Given the description of an element on the screen output the (x, y) to click on. 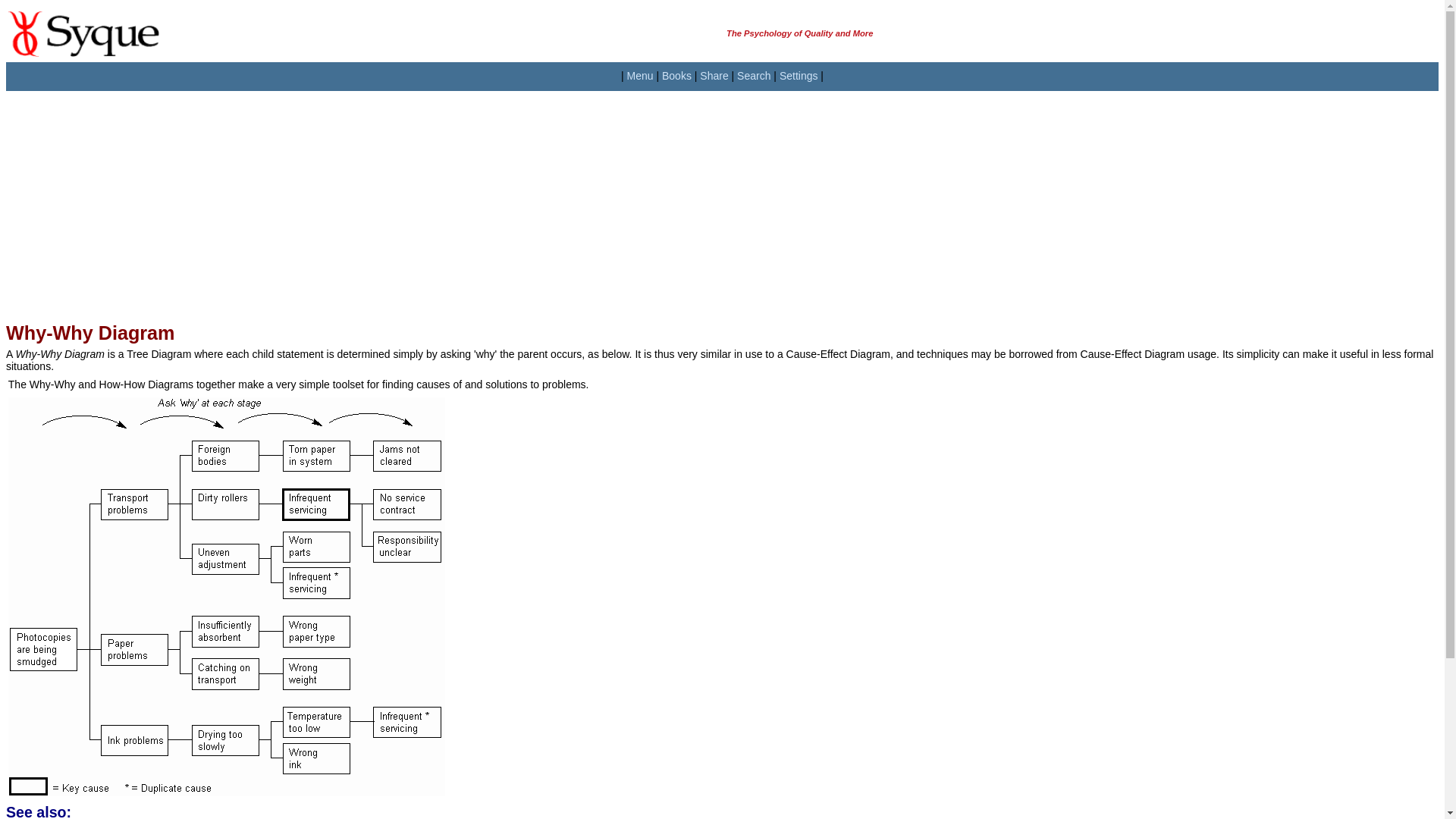
Share (714, 75)
Search (753, 75)
Books (676, 75)
Settings (798, 75)
Menu (640, 75)
